Given the description of an element on the screen output the (x, y) to click on. 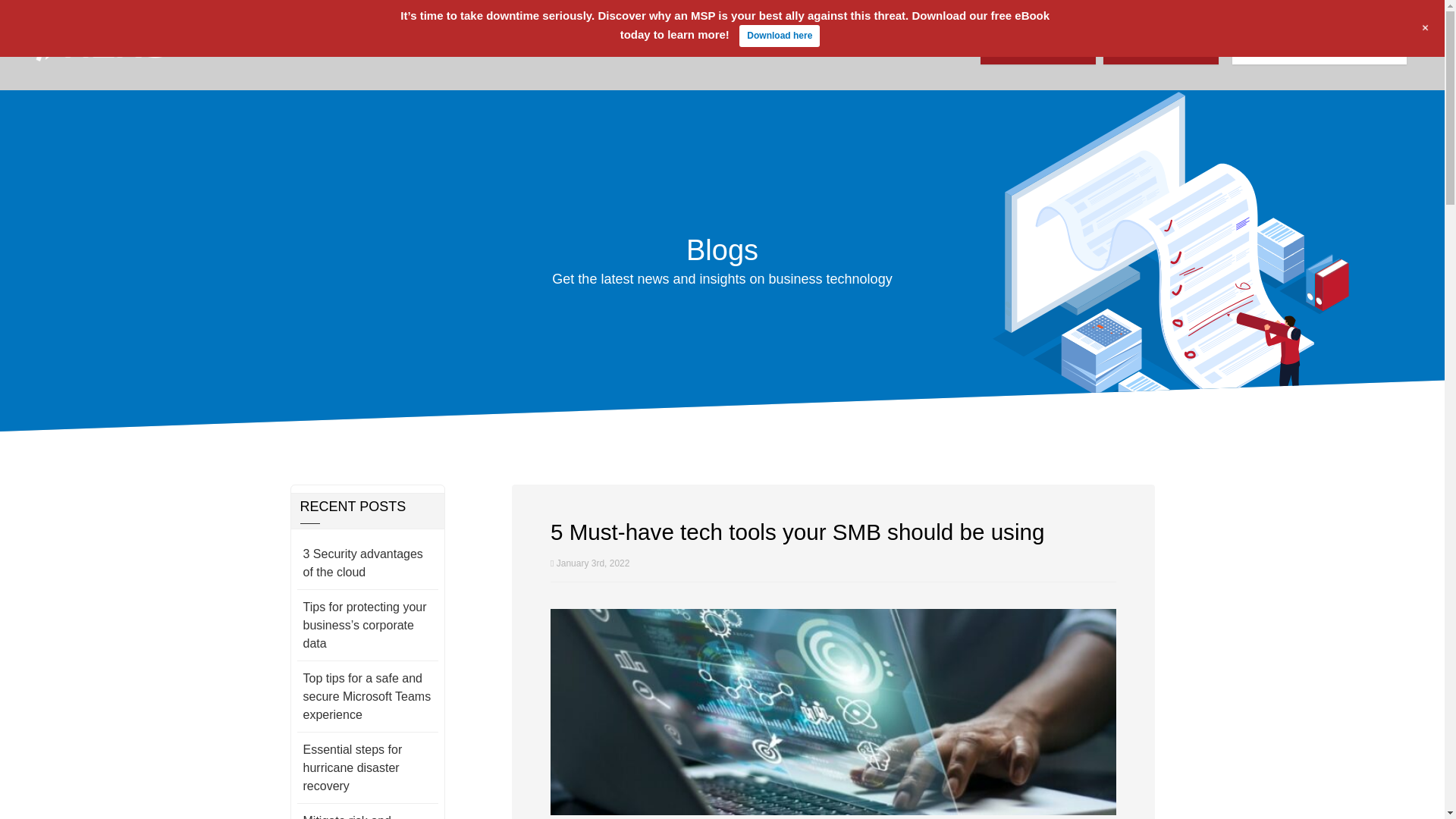
Areas Served (508, 44)
Services (431, 44)
About Us (362, 44)
